Given the description of an element on the screen output the (x, y) to click on. 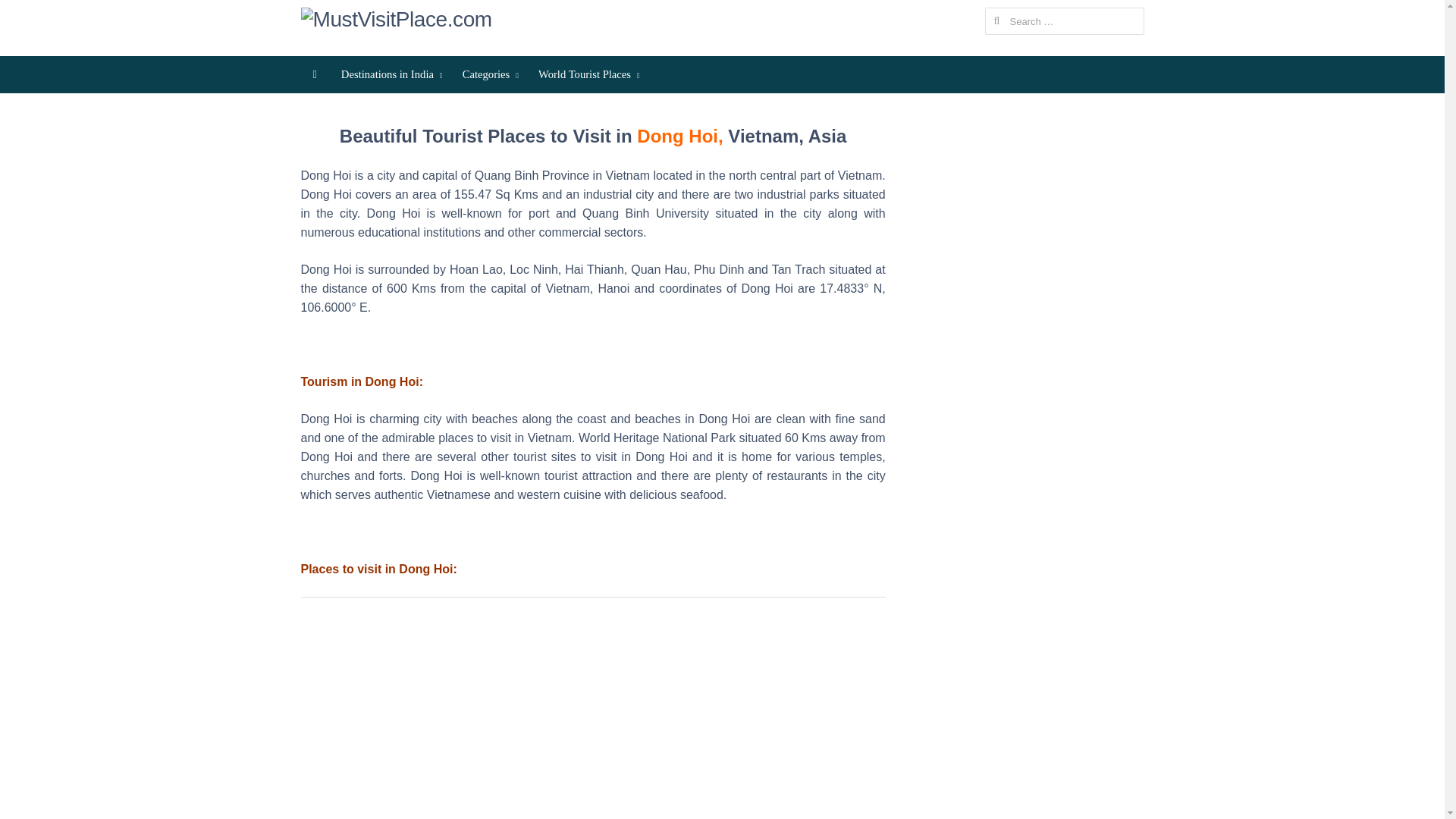
MustVisitPlace.com (398, 19)
Categories (487, 74)
Destinations in India (389, 74)
Search (27, 13)
